Given the description of an element on the screen output the (x, y) to click on. 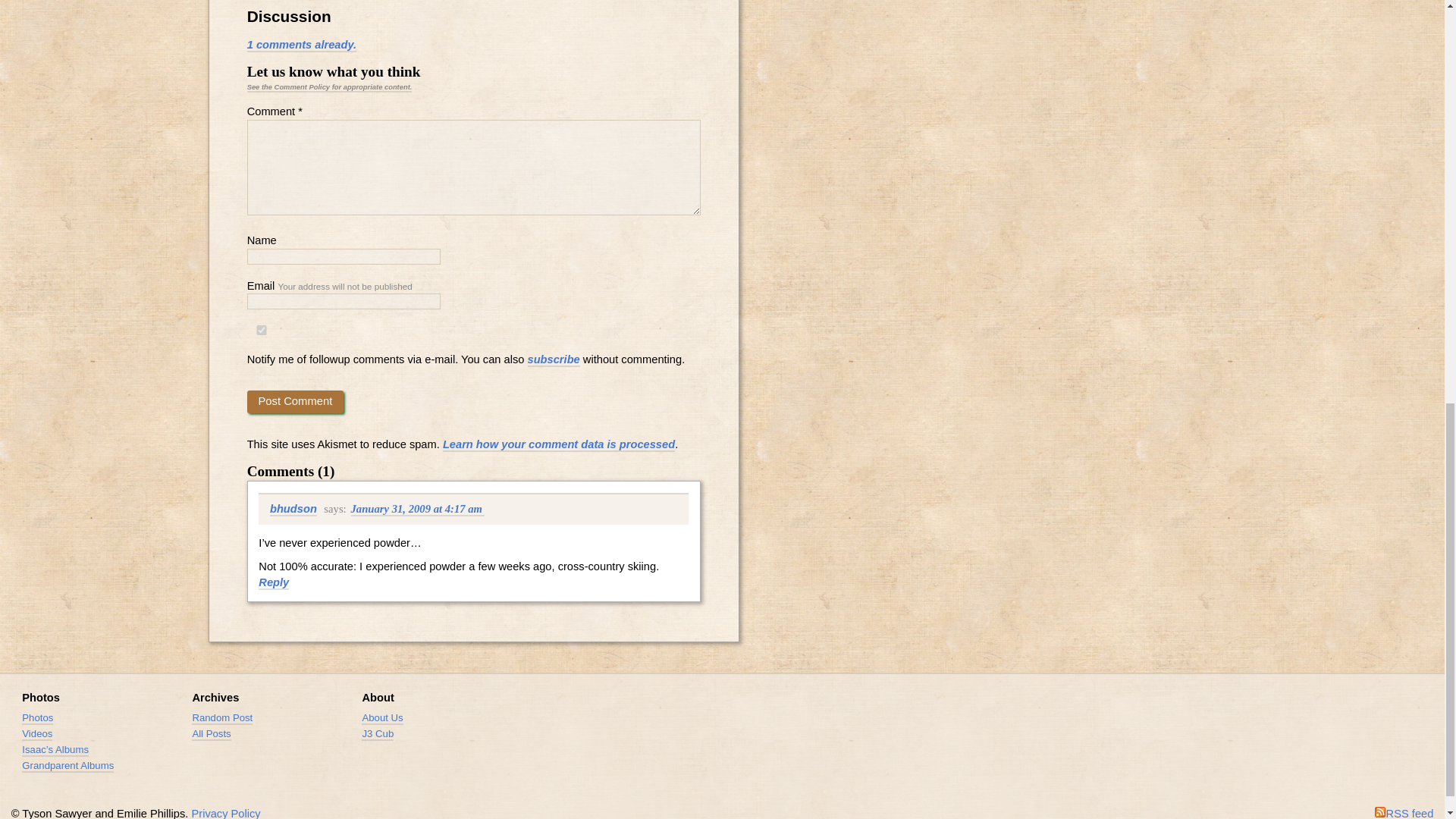
subscribe (553, 359)
January 31, 2009 at 4:17 am (417, 509)
See the Comment Policy for appropriate content. (329, 87)
Grandparent Albums (67, 766)
Post Comment (295, 401)
Reply (273, 582)
Photos (40, 697)
1 comments already. (301, 45)
Post Comment (295, 401)
Archives (215, 697)
Learn how your comment data is processed (558, 445)
bhudson (293, 509)
Subscribe (1404, 813)
Videos (36, 734)
yes (261, 329)
